Given the description of an element on the screen output the (x, y) to click on. 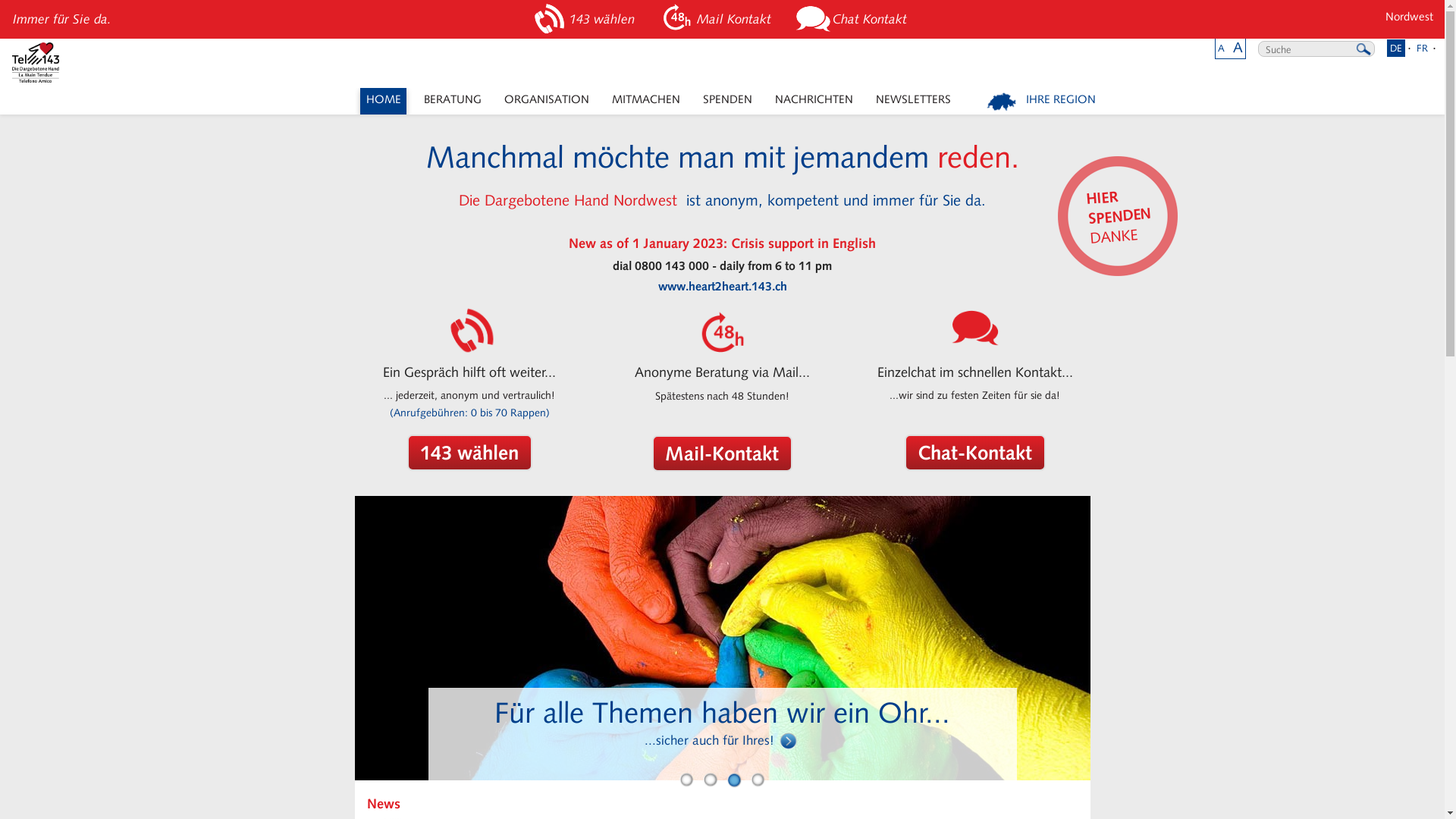
4 Element type: text (757, 780)
SPENDEN Element type: text (726, 100)
IHRE REGION Element type: text (1041, 100)
MITMACHEN Element type: text (645, 100)
Interesse geweckt? Element type: text (722, 740)
Mail-Kontakt Element type: text (722, 452)
www.heart2heart.143.ch Element type: text (722, 286)
Mail Kontakt Element type: text (717, 19)
NEWSLETTERS Element type: text (912, 100)
3 Element type: text (733, 780)
Chat Kontakt Element type: text (853, 19)
A Element type: text (1220, 47)
FR Element type: text (1421, 47)
ORGANISATION Element type: text (546, 100)
DE Element type: text (1395, 47)
HIER SPENDEN DANKE Element type: text (1113, 212)
NACHRICHTEN Element type: text (813, 100)
A Element type: text (1237, 47)
BERATUNG Element type: text (451, 100)
1 Element type: text (686, 780)
Chat-Kontakt Element type: text (974, 452)
2 Element type: text (709, 780)
HOME Element type: text (383, 100)
